Given the description of an element on the screen output the (x, y) to click on. 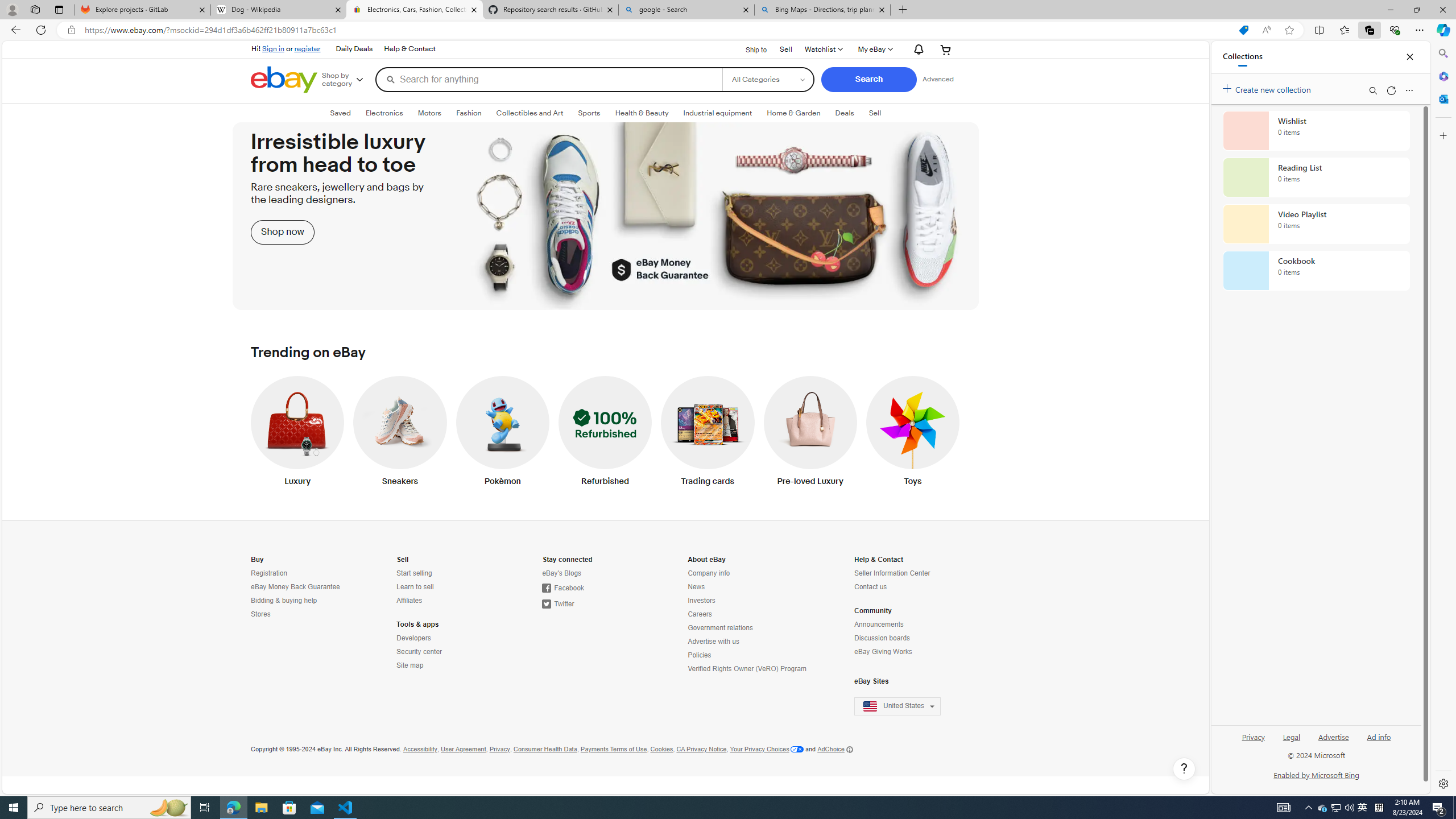
Sneakers (399, 433)
Bidding & buying help (300, 600)
Community (872, 611)
User Agreement (463, 749)
SellExpand: Sell (874, 112)
Site map (446, 665)
This site has coupons! Shopping in Microsoft Edge, 20 (1243, 29)
Investors (748, 600)
Fashion (468, 112)
Bidding & buying help (283, 600)
Security center (419, 652)
Cookbook collection, 0 items (1316, 270)
